Given the description of an element on the screen output the (x, y) to click on. 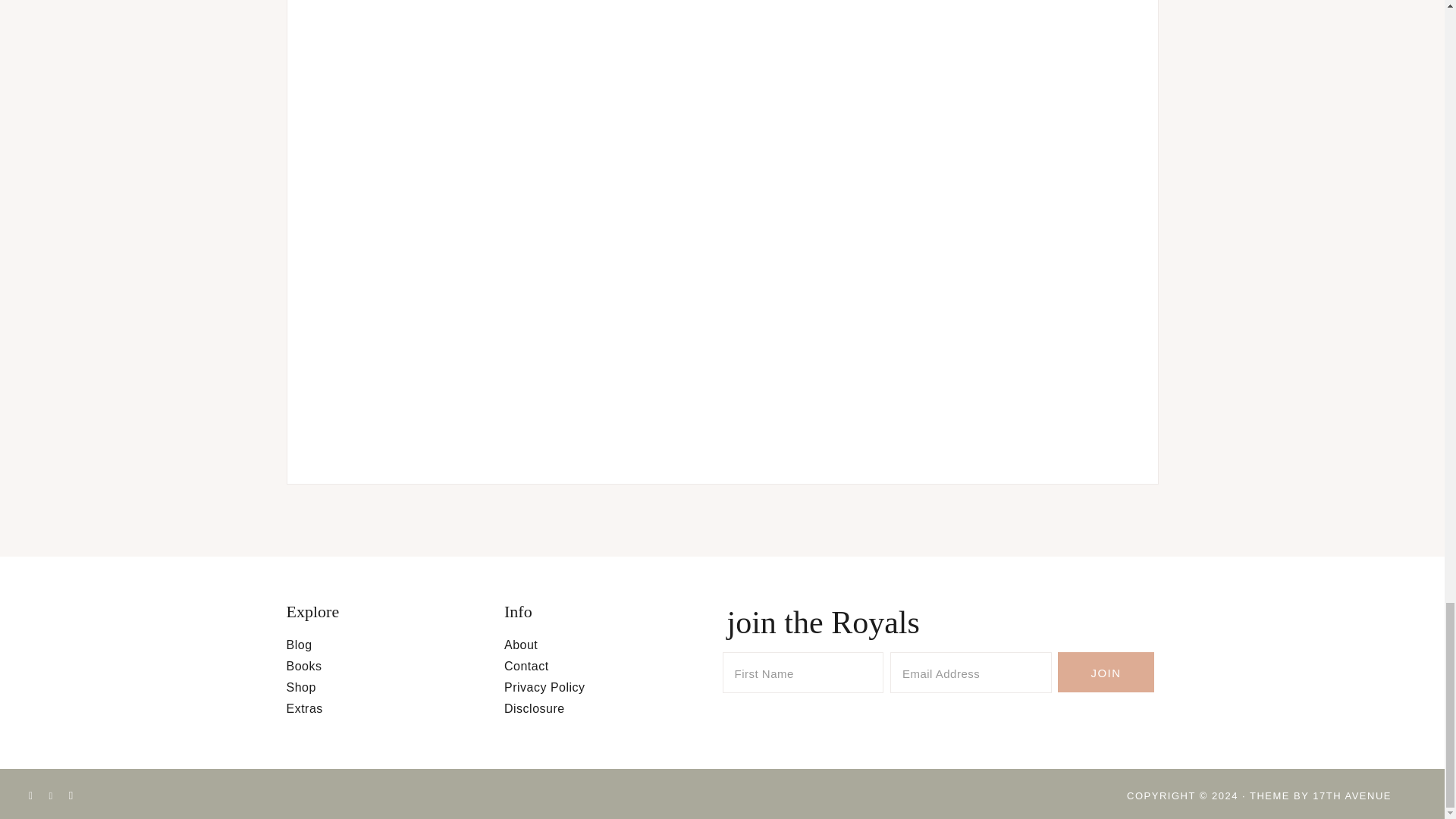
Join (1106, 671)
